Given the description of an element on the screen output the (x, y) to click on. 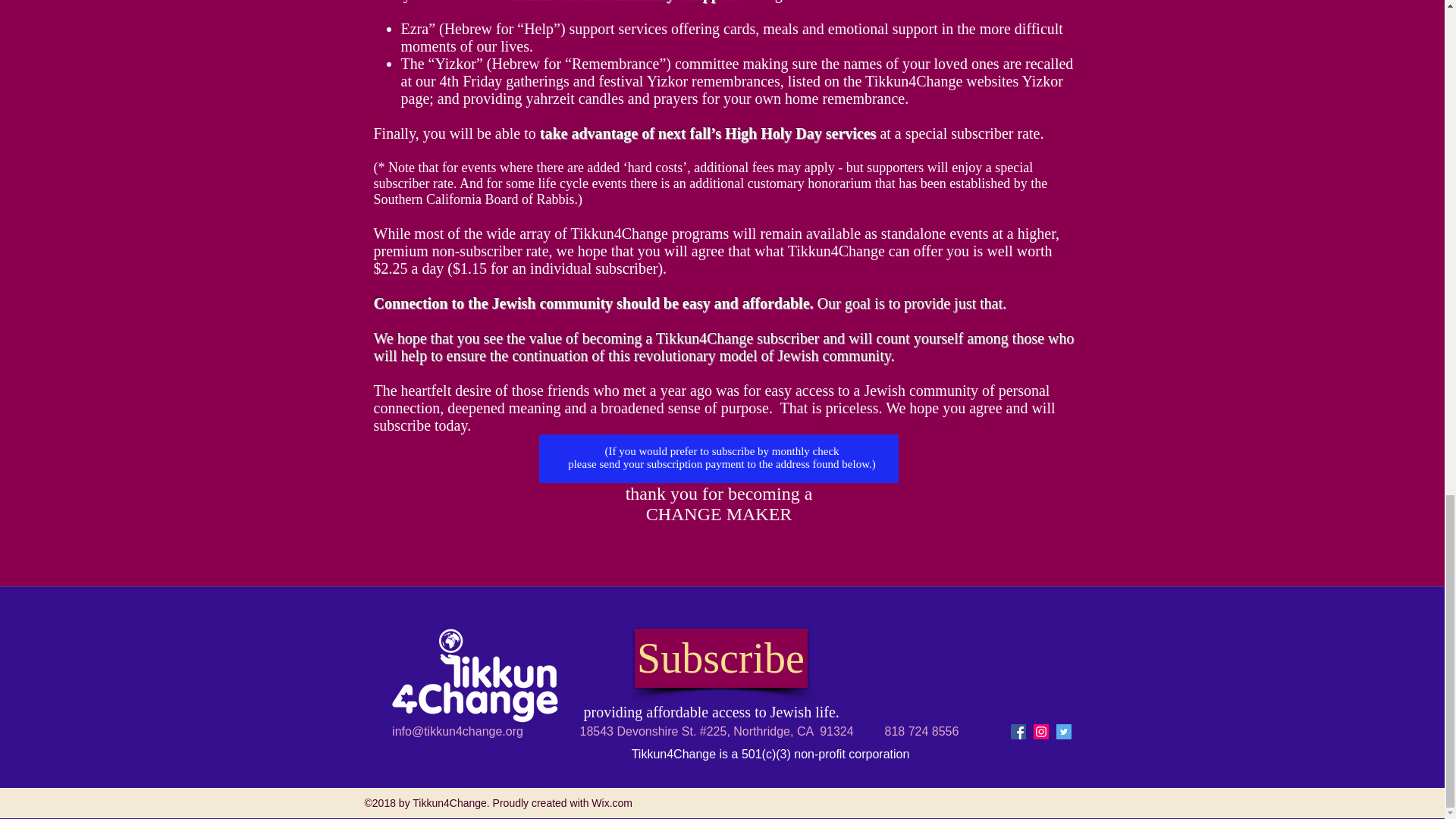
Subscribe (719, 657)
